Given the description of an element on the screen output the (x, y) to click on. 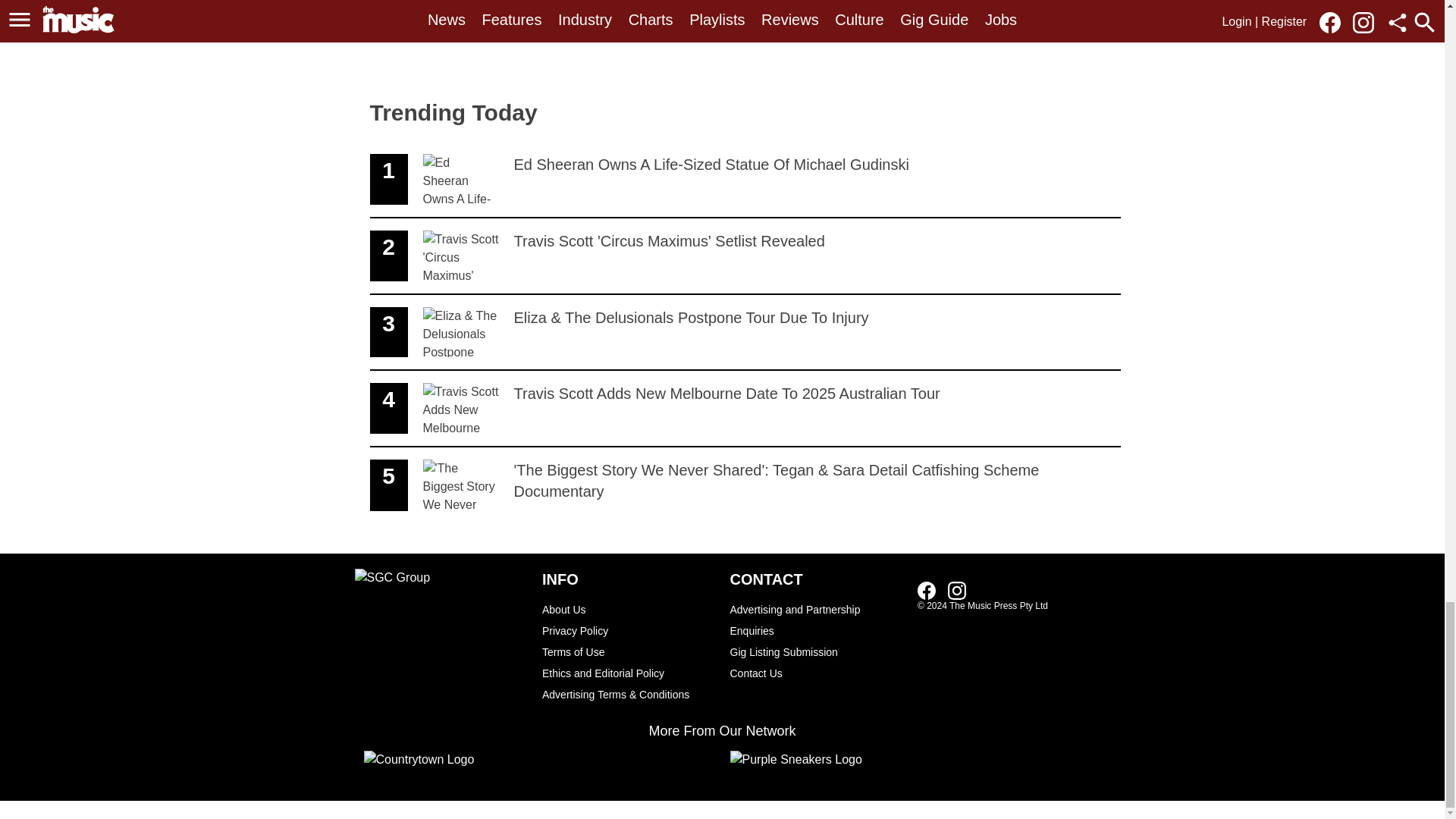
Advertising and Partnership Enquiries (815, 619)
Link to our Instagram (956, 590)
Link to our Facebook (926, 590)
Ethics and Editorial Policy (627, 672)
Gig Listing Submission (815, 651)
About Us (745, 256)
Privacy Policy (627, 608)
Terms of Use (627, 630)
